Given the description of an element on the screen output the (x, y) to click on. 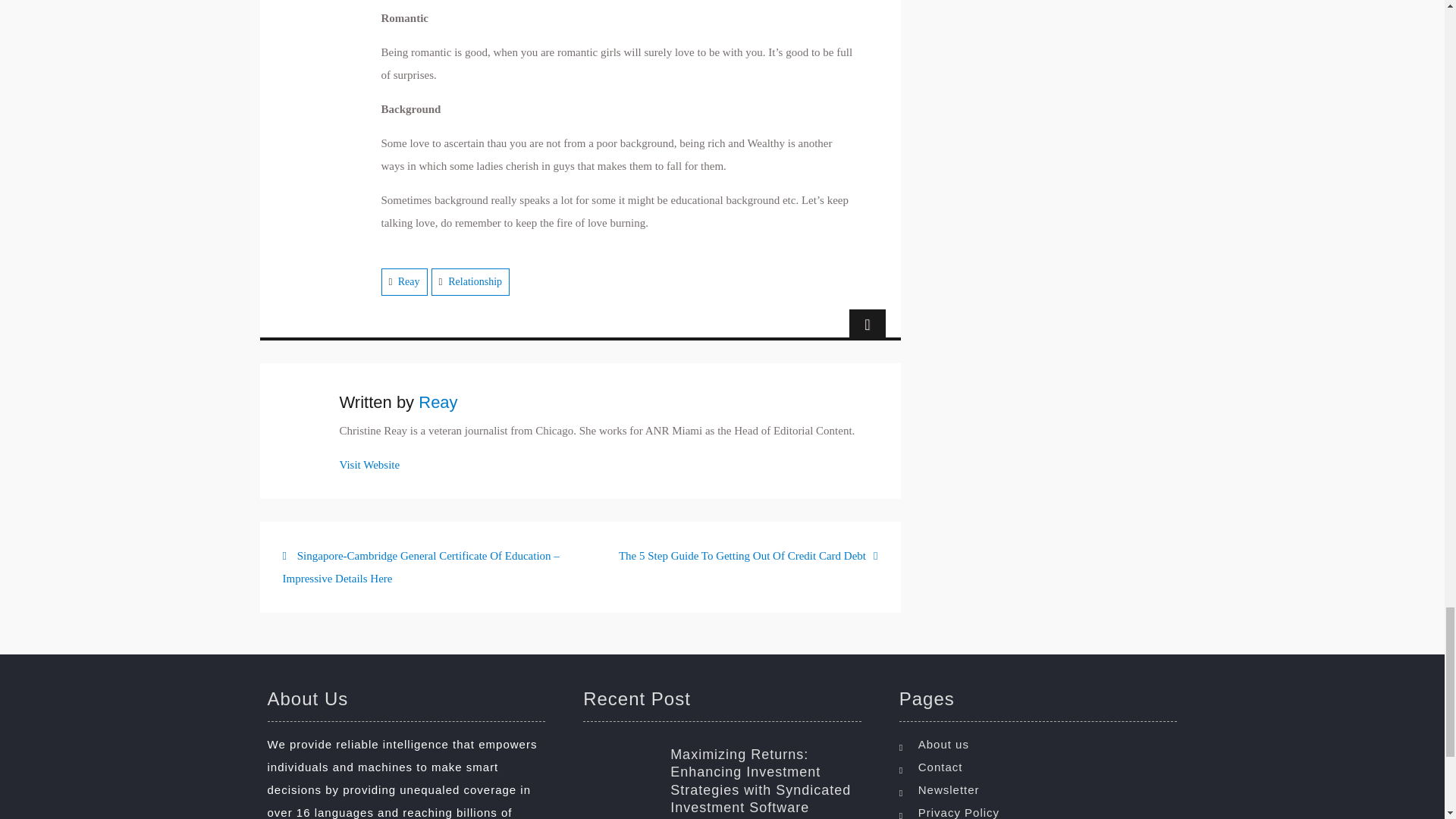
Reay (438, 402)
Privacy Policy (1042, 810)
About us (1042, 744)
Contact (1042, 766)
Relationship (475, 281)
Posts by Reay (438, 402)
Reay (408, 281)
Visit Website (369, 464)
Newsletter (1042, 789)
